Given the description of an element on the screen output the (x, y) to click on. 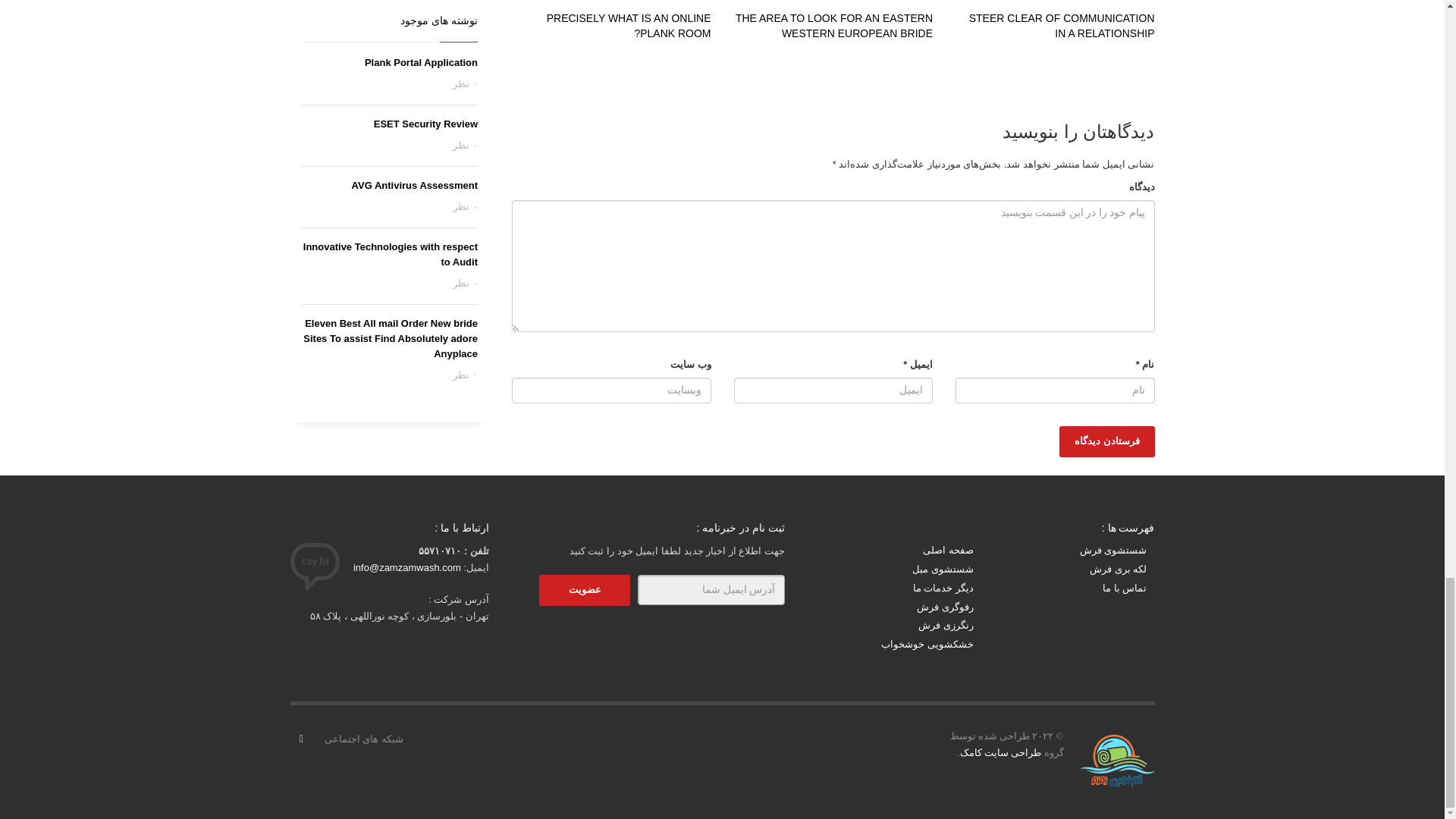
ESET Security Review (425, 123)
AVG Antivirus Assessment (414, 184)
Plank Portal Application (421, 61)
STEER CLEAR OF COMMUNICATION IN A RELATIONSHIP (1061, 25)
PRECISELY WHAT IS AN ONLINE PLANK ROOM? (629, 25)
THE AREA TO LOOK FOR AN EASTERN WESTERN EUROPEAN BRIDE (834, 25)
Innovative Technologies with respect to Audit (389, 253)
